Given the description of an element on the screen output the (x, y) to click on. 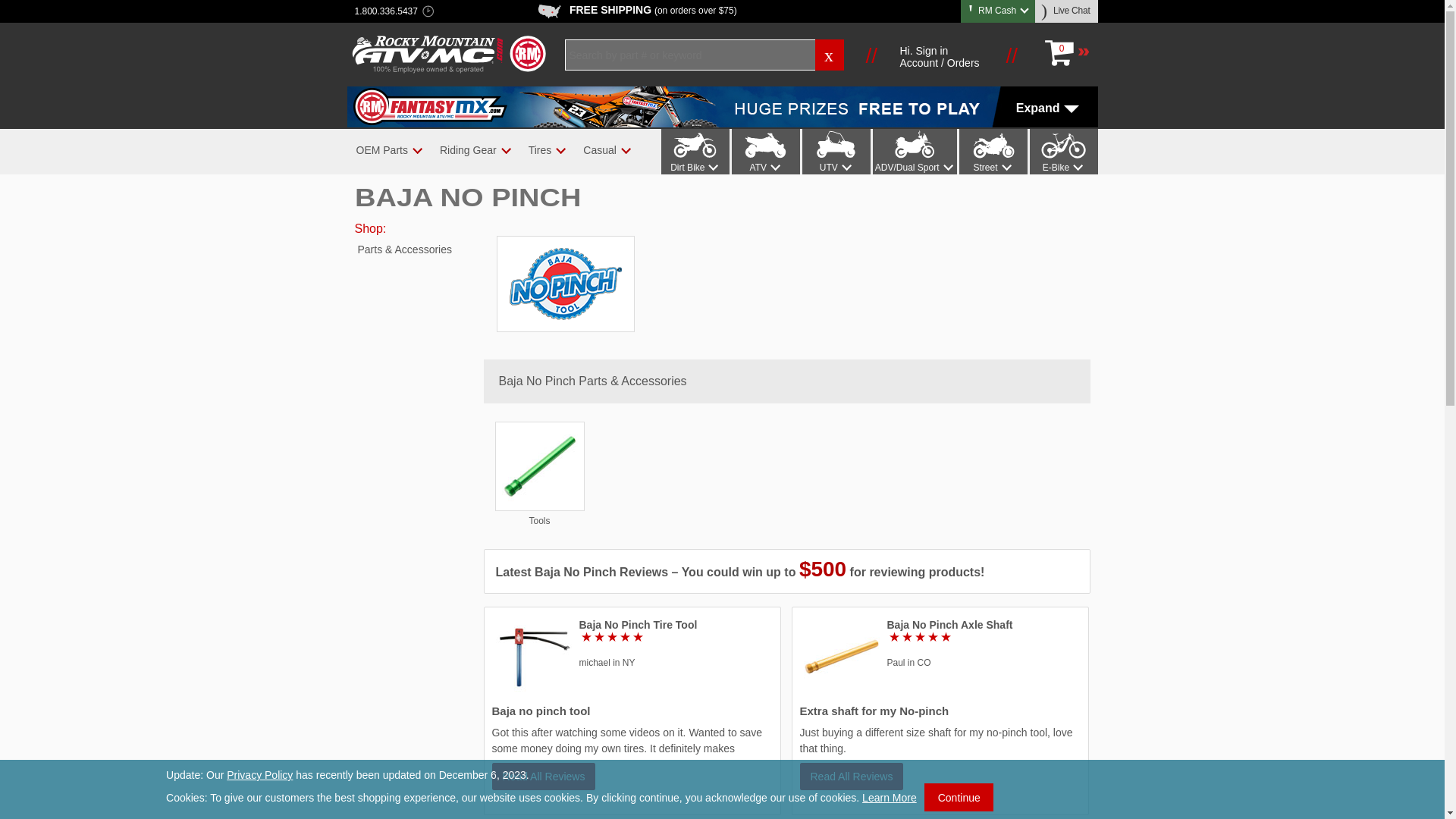
Live Chat (1067, 11)
1.800.336.5437 (386, 12)
OEM Parts (381, 150)
Privacy Policy (259, 775)
Continue (958, 796)
Learn More (889, 797)
RM Cash (997, 9)
0 (1066, 53)
Expand (722, 106)
